Given the description of an element on the screen output the (x, y) to click on. 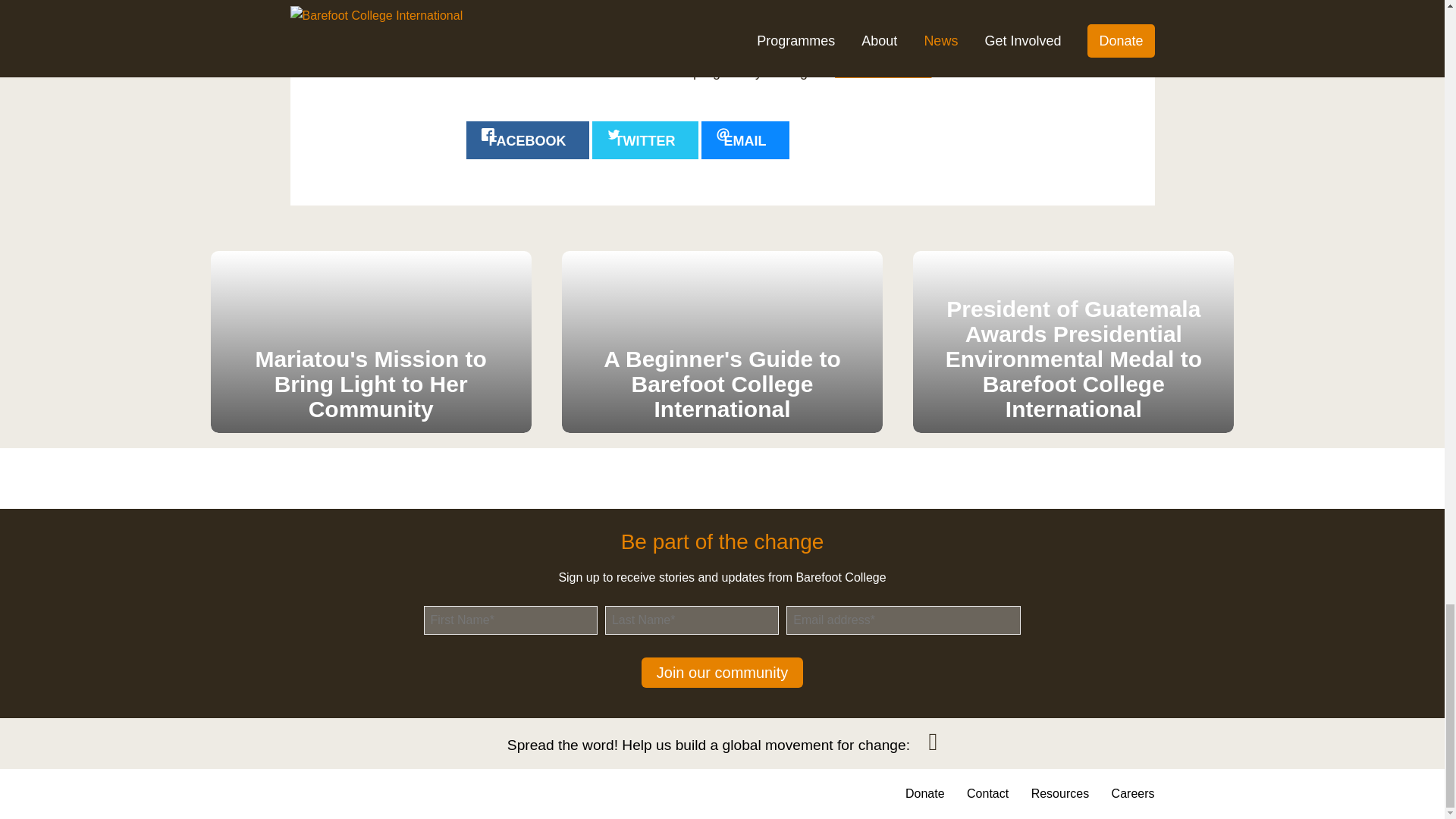
FACEBOOK (526, 139)
Mariatou's Mission to Bring Light to Her Community (371, 341)
A Beginner's Guide to Barefoot College International (722, 341)
DONATE PAGE (882, 71)
EMAIL (744, 139)
TWITTER (645, 139)
Join our community (722, 672)
Join our community (722, 672)
